Given the description of an element on the screen output the (x, y) to click on. 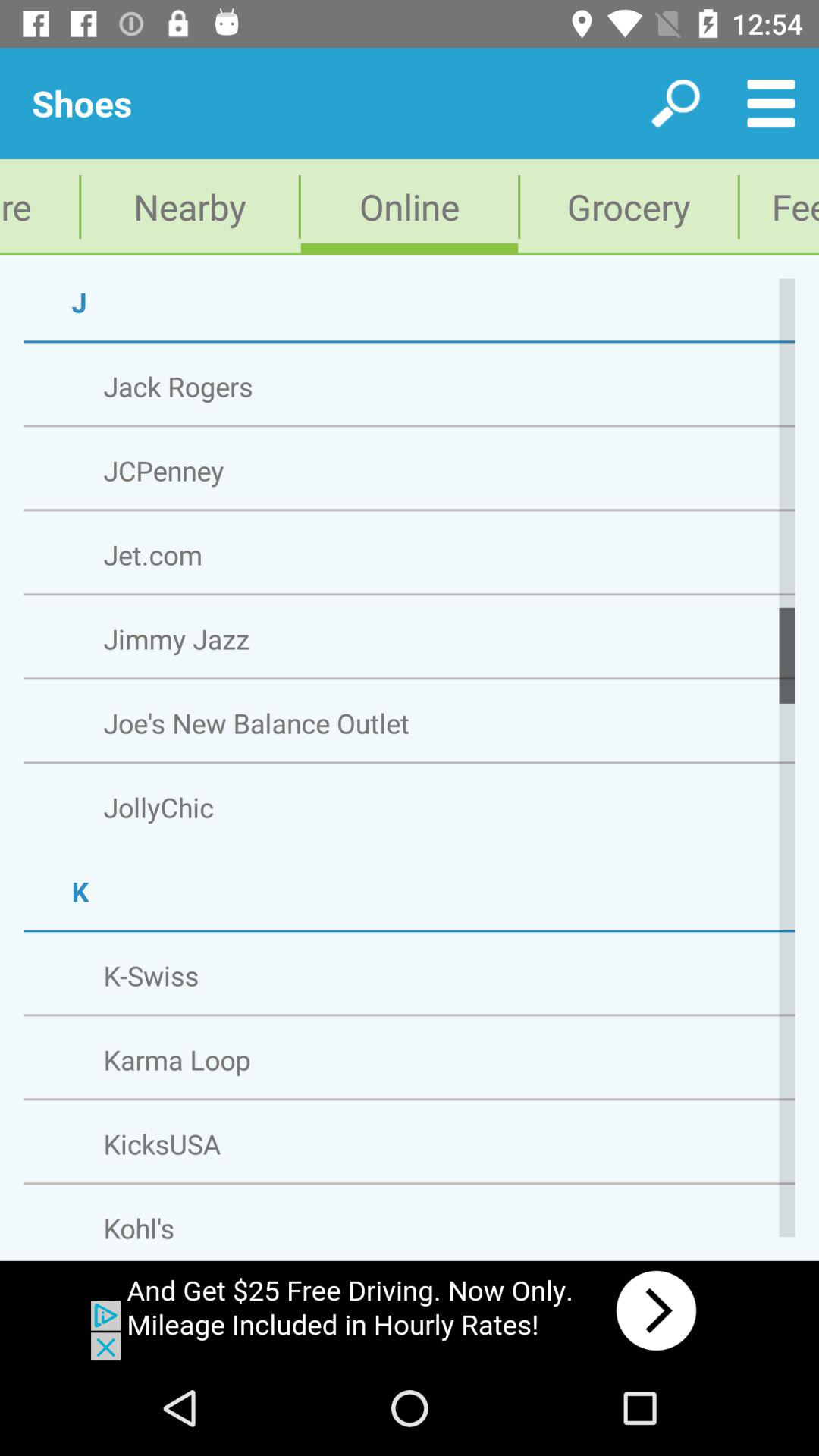
next the option (409, 1310)
